Given the description of an element on the screen output the (x, y) to click on. 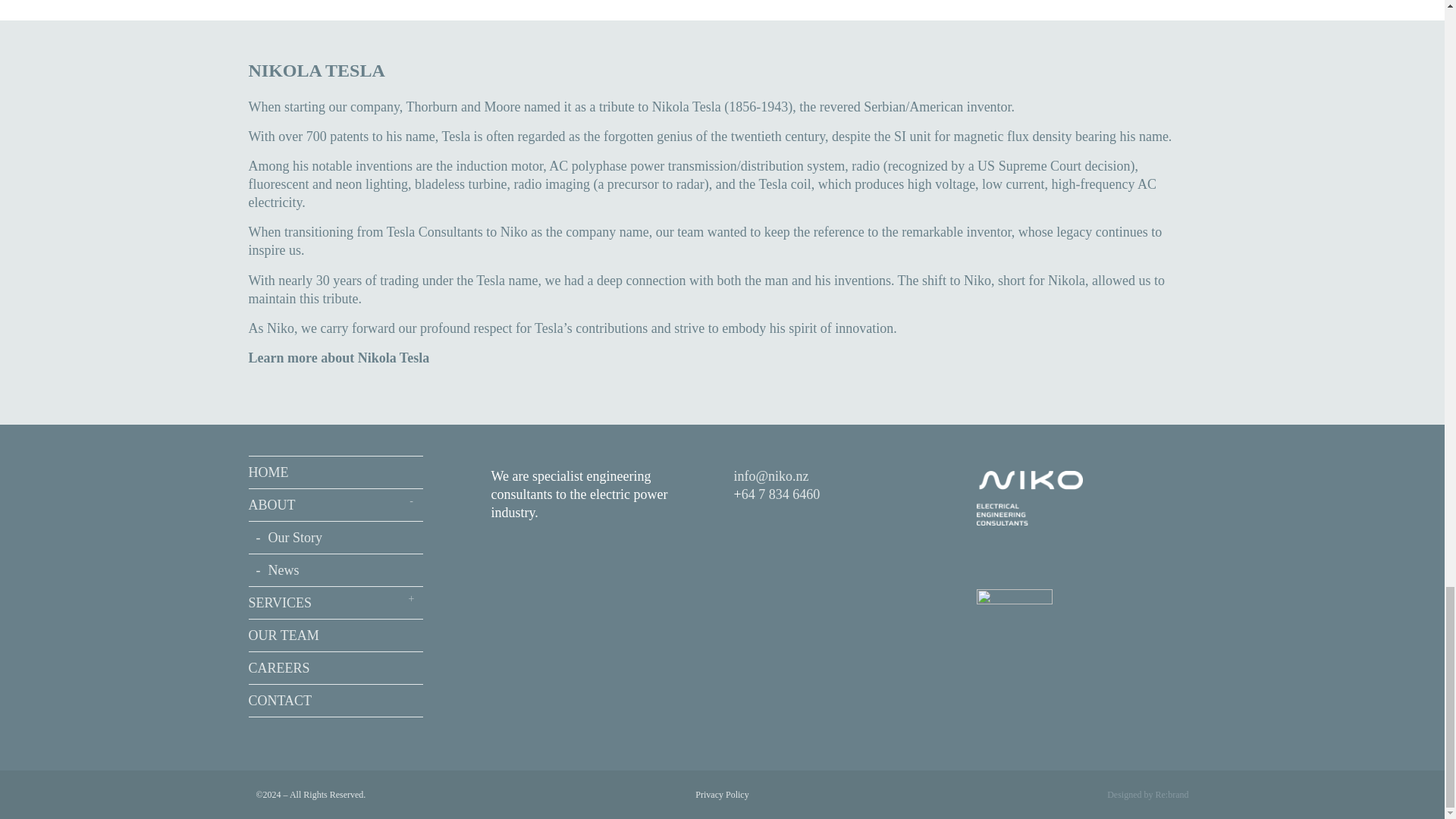
Our Story (335, 537)
OUR TEAM (335, 635)
News (335, 570)
CAREERS (335, 667)
Learn more about Nikola Tesla (338, 357)
CONTACT (335, 700)
HOME (335, 471)
64 7 834 6460 (781, 494)
ABOUT (335, 504)
SERVICES (335, 603)
